Given the description of an element on the screen output the (x, y) to click on. 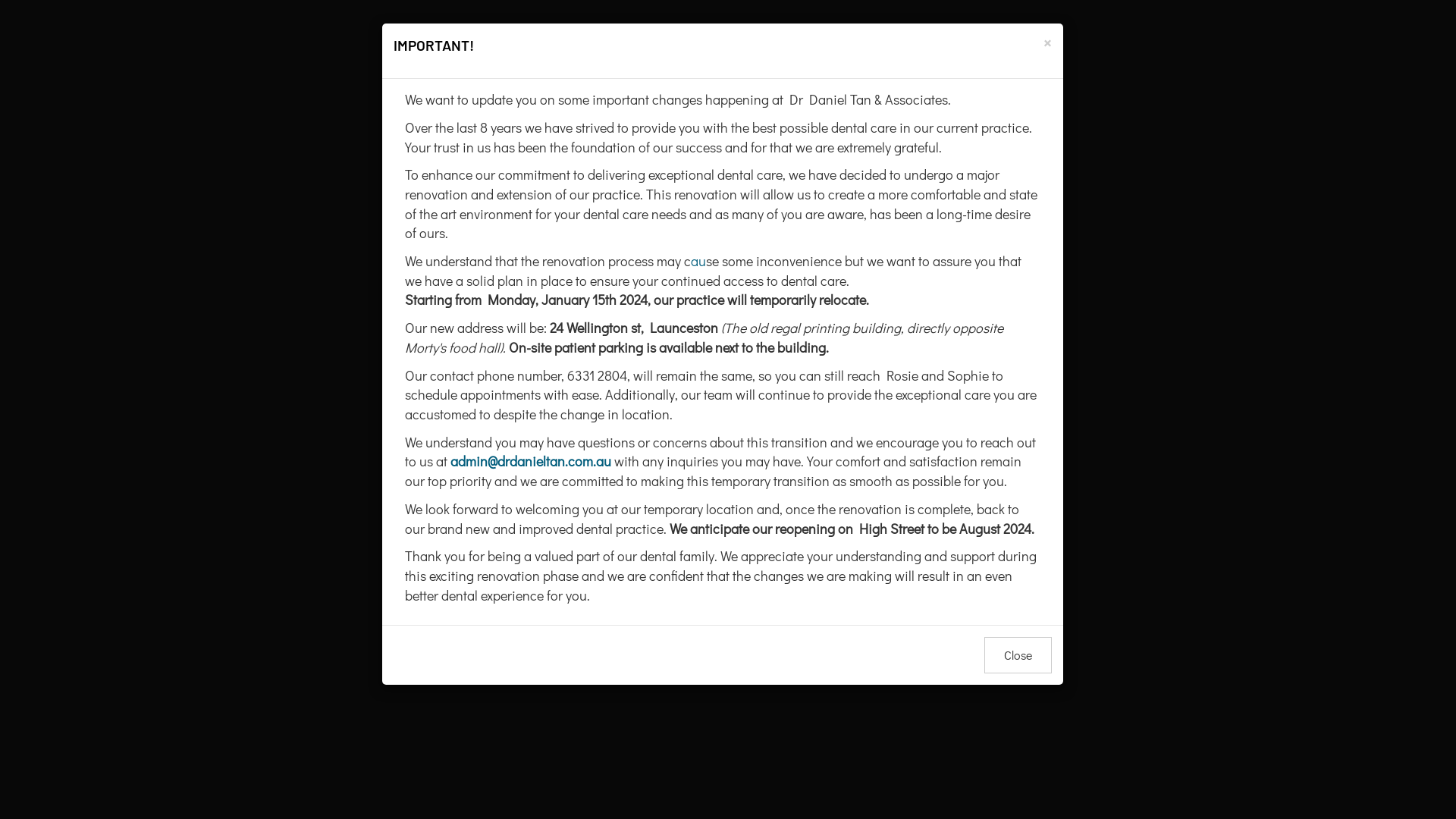
WELLNESS Element type: text (1115, 469)
CONTACT US Element type: text (1260, 70)
au Element type: text (697, 260)
AESTHETICS Element type: text (722, 469)
YOUR STORY Element type: text (552, 70)
MAKE AN APPOINTMENT Element type: text (1262, 33)
Close Element type: text (1017, 655)
OUR TEAM Element type: text (891, 70)
OUR SERVICES Element type: text (357, 70)
admin@drdanieltan.com.au Element type: text (530, 460)
ABOUT US Element type: text (169, 70)
ENTER Element type: text (727, 474)
DENTAL Element type: text (328, 469)
TASLAB Element type: text (1072, 70)
